Given the description of an element on the screen output the (x, y) to click on. 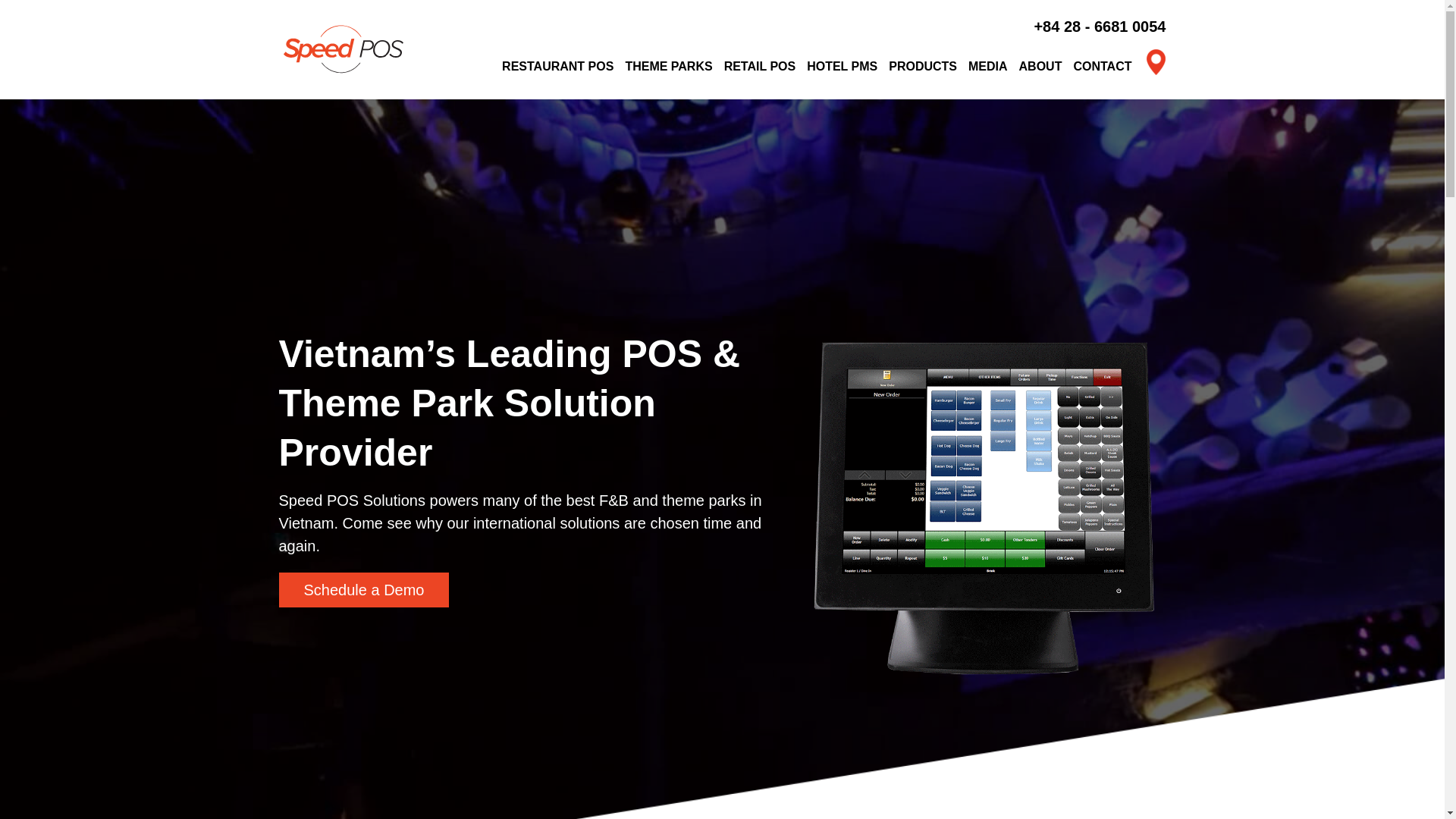
RESTAURANT POS (557, 66)
HOTEL PMS (841, 66)
MEDIA (987, 66)
Speed Tech (343, 49)
Schedule a Demo (364, 589)
ABOUT (1040, 66)
RETAIL POS (759, 66)
THEME PARKS (667, 66)
PRODUCTS (922, 66)
CONTACT (1102, 66)
